Given the description of an element on the screen output the (x, y) to click on. 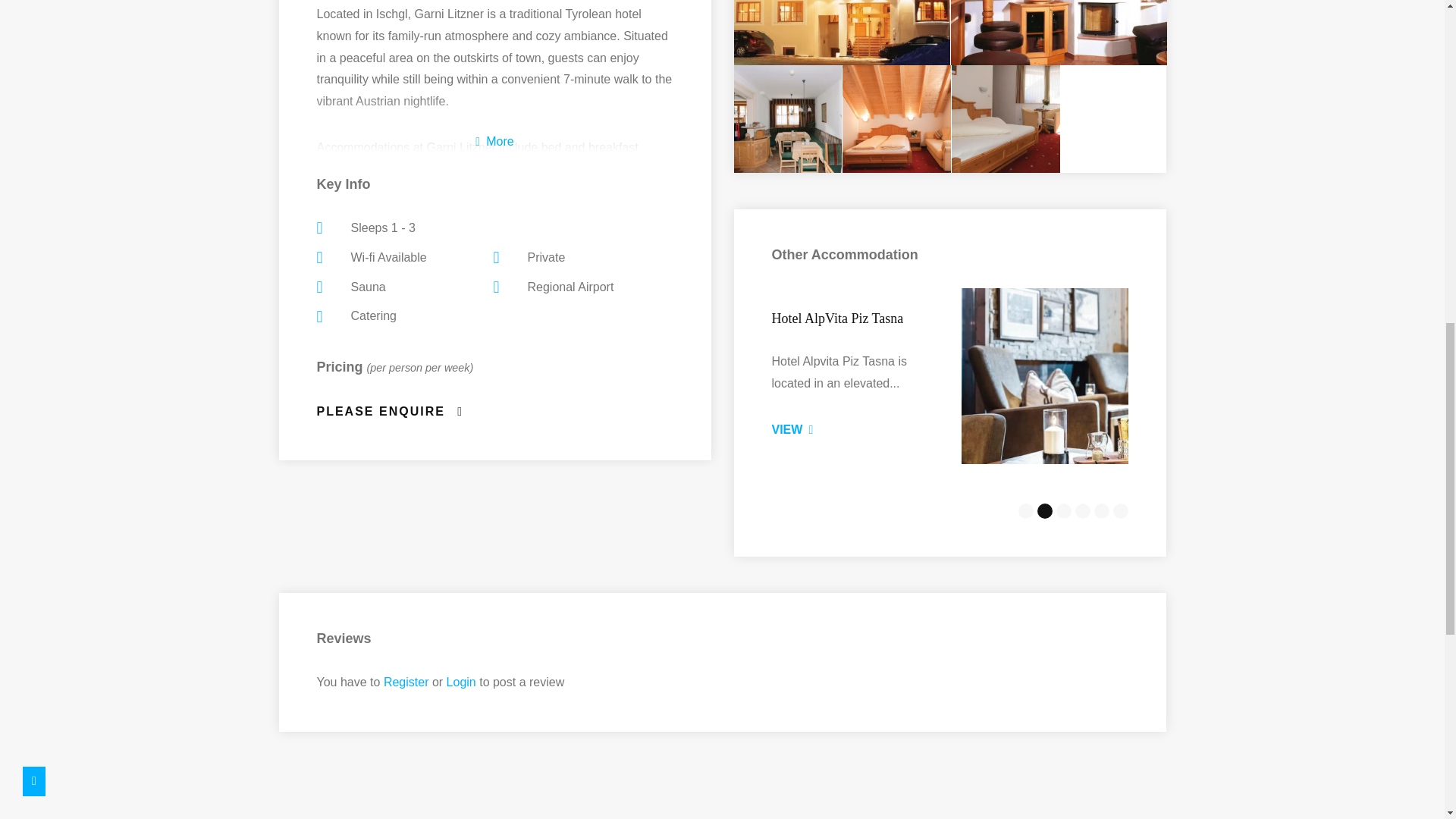
More (494, 123)
PLEASE ENQUIRE (390, 411)
VIEW (792, 429)
